Given the description of an element on the screen output the (x, y) to click on. 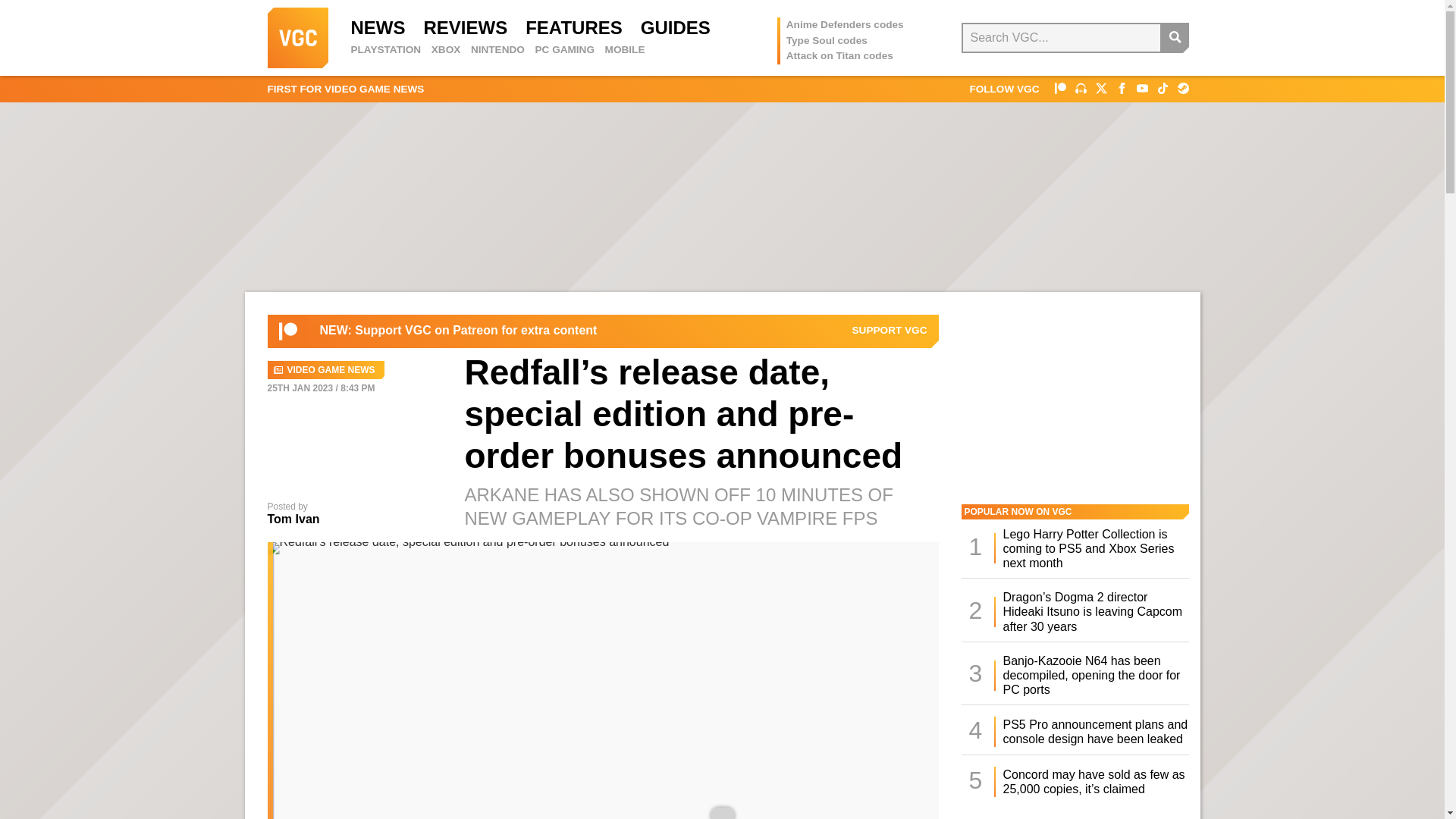
VIDEO GAME NEWS (325, 370)
MOBILE (625, 49)
GUIDES (675, 27)
PC GAMING (564, 49)
VGC on Patreon (288, 331)
Posts by Tom Ivan (292, 518)
SUPPORT VGC (889, 330)
NEW: Support VGC on Patreon for extra content (457, 330)
Anime Defenders codes (845, 24)
FEATURES (574, 27)
